Given the description of an element on the screen output the (x, y) to click on. 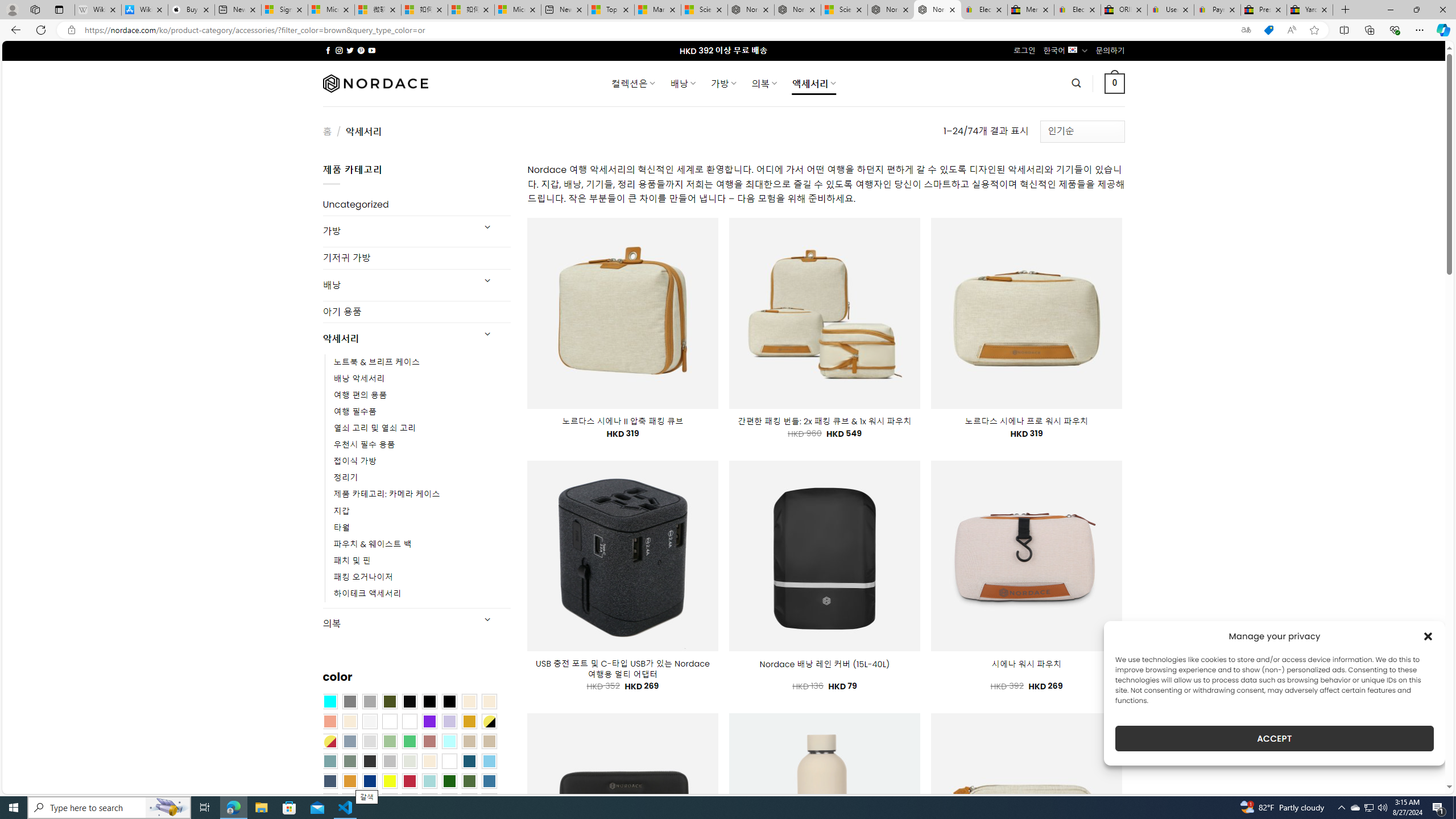
Kelp (408, 721)
Uncategorized (416, 204)
Nordace - Summer Adventures 2024 (890, 9)
